Given the description of an element on the screen output the (x, y) to click on. 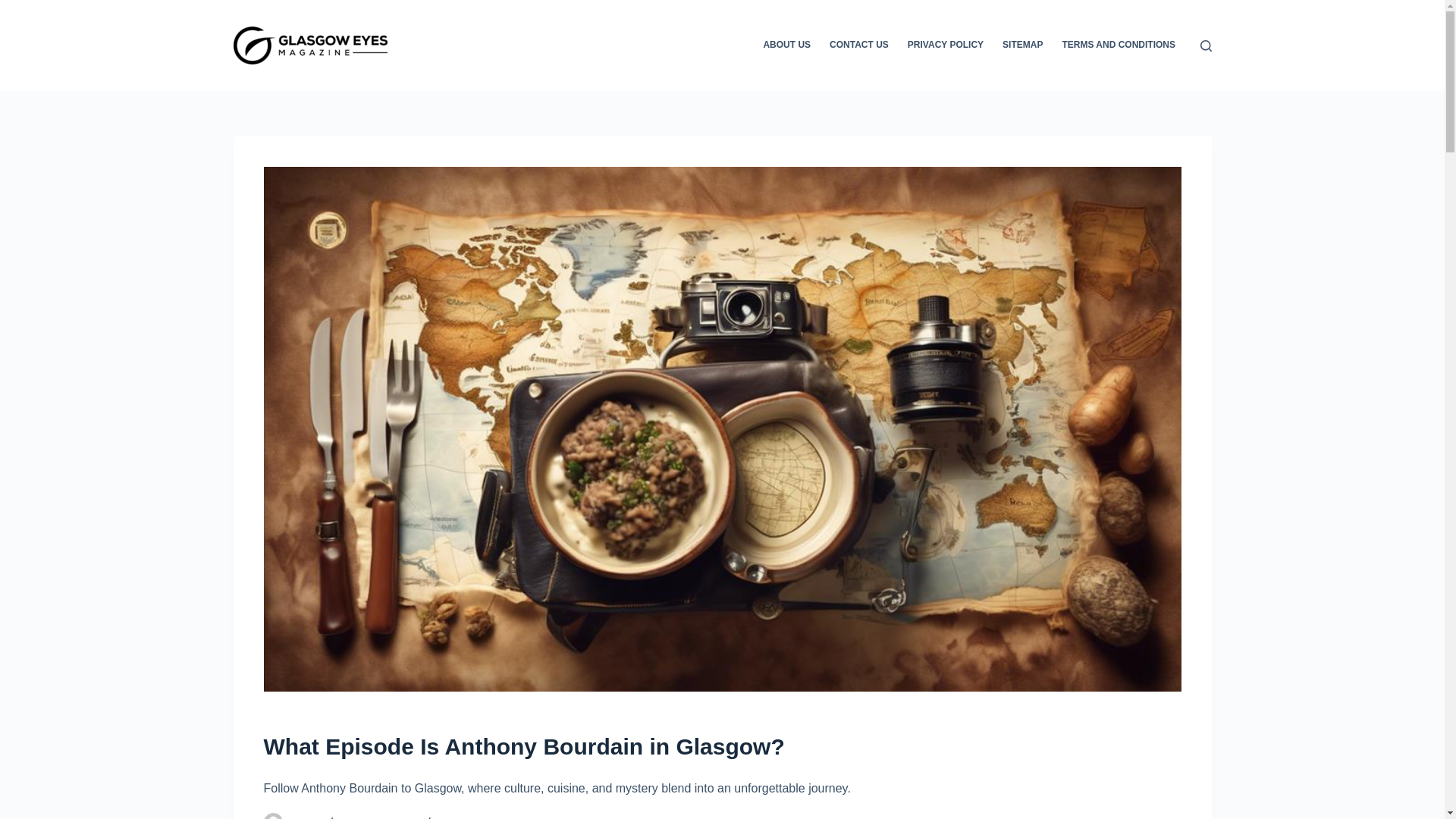
GLASGOW TRAVEL (481, 818)
Posts by Alysha (304, 818)
Skip to content (15, 7)
What Episode Is Anthony Bourdain in Glasgow? (721, 746)
TERMS AND CONDITIONS (1118, 45)
ALYSHA (304, 818)
PRIVACY POLICY (945, 45)
